Given the description of an element on the screen output the (x, y) to click on. 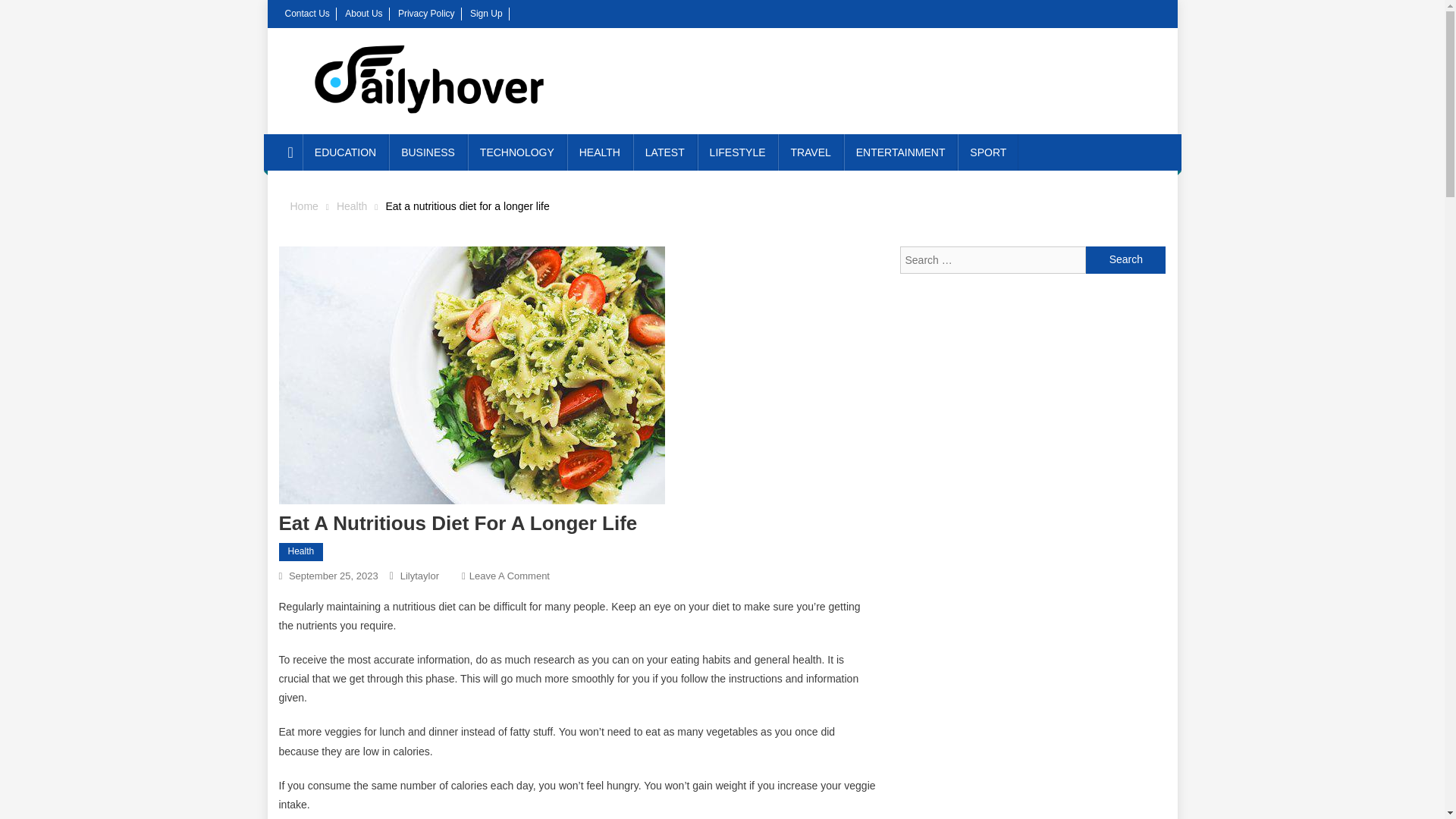
TECHNOLOGY (516, 152)
BUSINESS (427, 152)
September 25, 2023 (333, 575)
Search (1126, 259)
HEALTH (599, 152)
EDUCATION (345, 152)
Privacy Policy (425, 13)
LIFESTYLE (737, 152)
Health (351, 205)
About Us (509, 575)
Home (363, 13)
Search (303, 205)
Lilytaylor (1126, 259)
TRAVEL (419, 575)
